Given the description of an element on the screen output the (x, y) to click on. 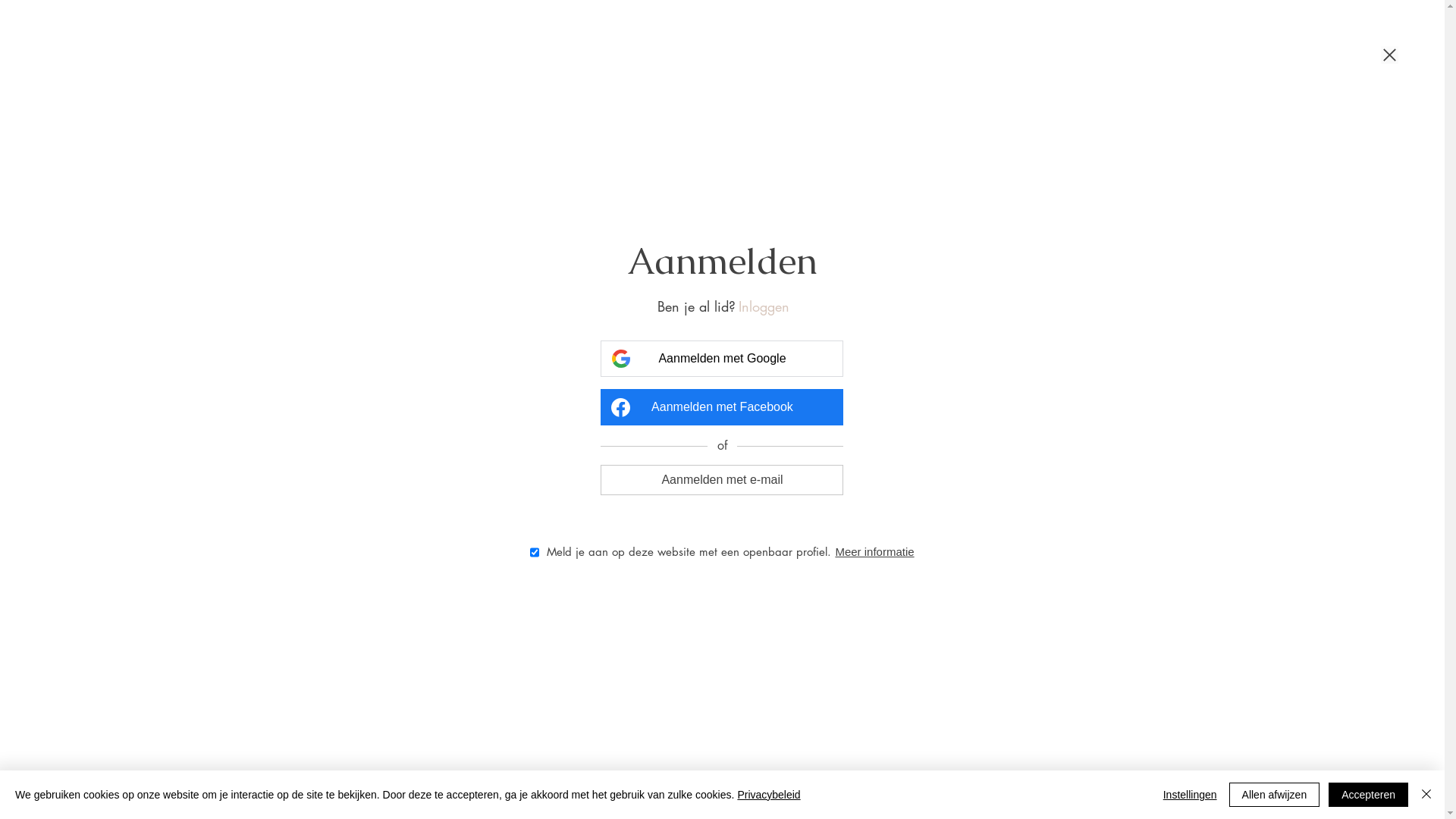
Aanmelden met e-mail Element type: text (721, 479)
Meer informatie Element type: text (873, 551)
Inloggen Element type: text (763, 306)
Aanmelden met Google Element type: text (721, 358)
Aanmelden met Facebook Element type: text (721, 407)
Allen afwijzen Element type: text (1274, 794)
Privacybeleid Element type: text (768, 794)
Accepteren Element type: text (1368, 794)
